Given the description of an element on the screen output the (x, y) to click on. 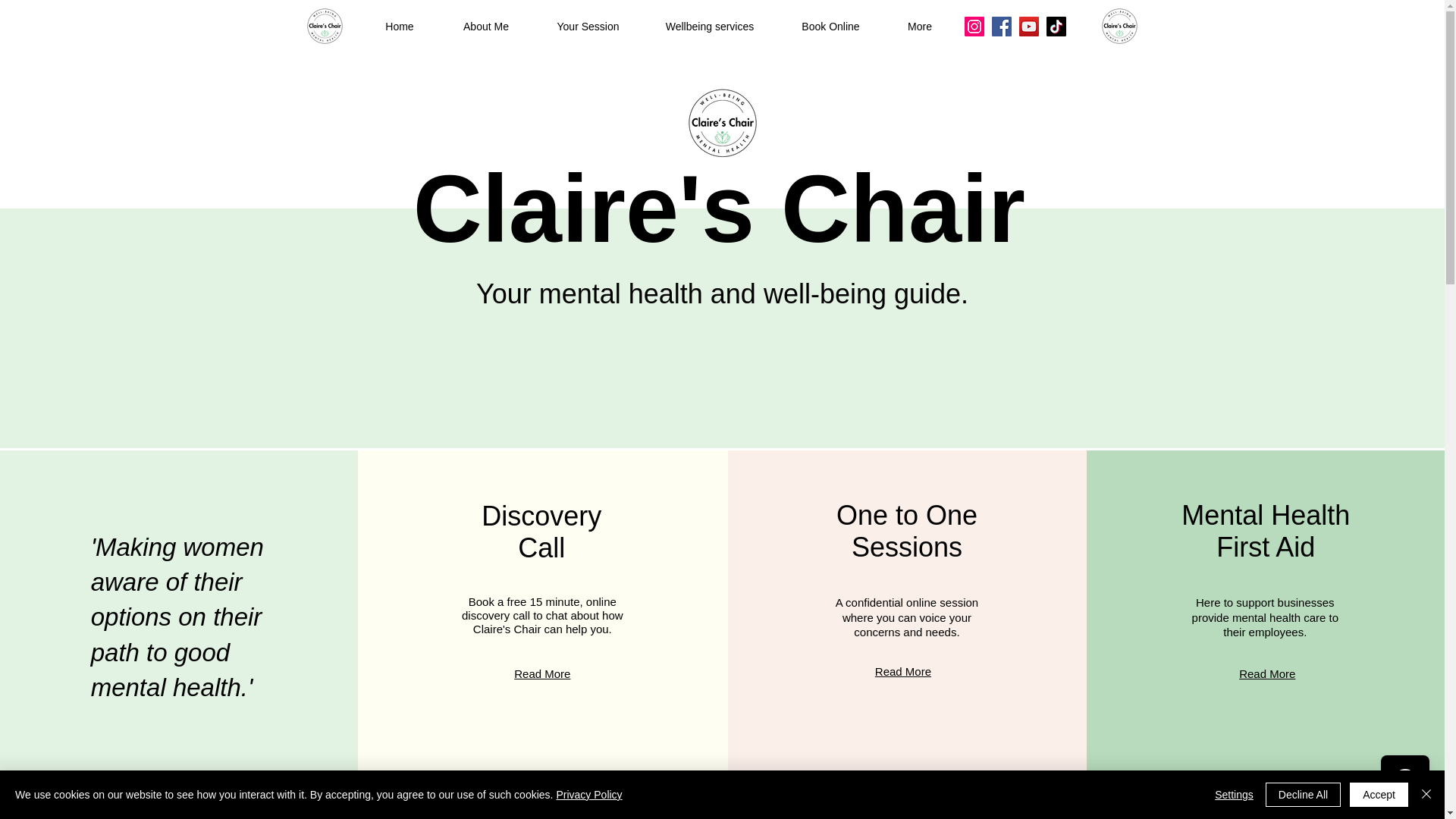
Wellbeing services (709, 26)
Accept (1378, 794)
Read More (541, 673)
Your Session (588, 26)
Decline All (1302, 794)
Book Online (830, 26)
Privacy Policy (588, 794)
Read More (1267, 673)
Read More (903, 671)
Home (399, 26)
